Given the description of an element on the screen output the (x, y) to click on. 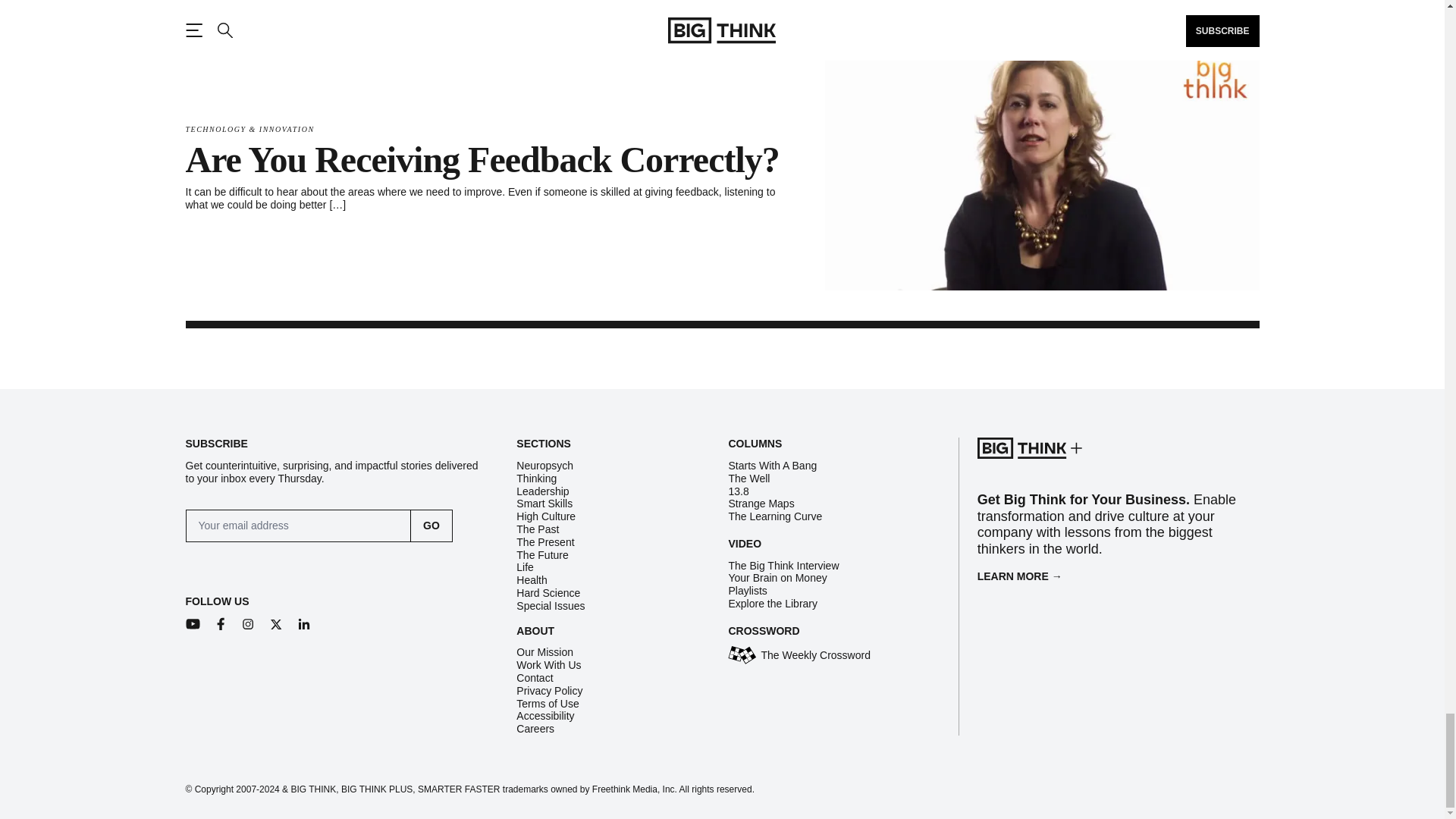
Go (431, 525)
